Given the description of an element on the screen output the (x, y) to click on. 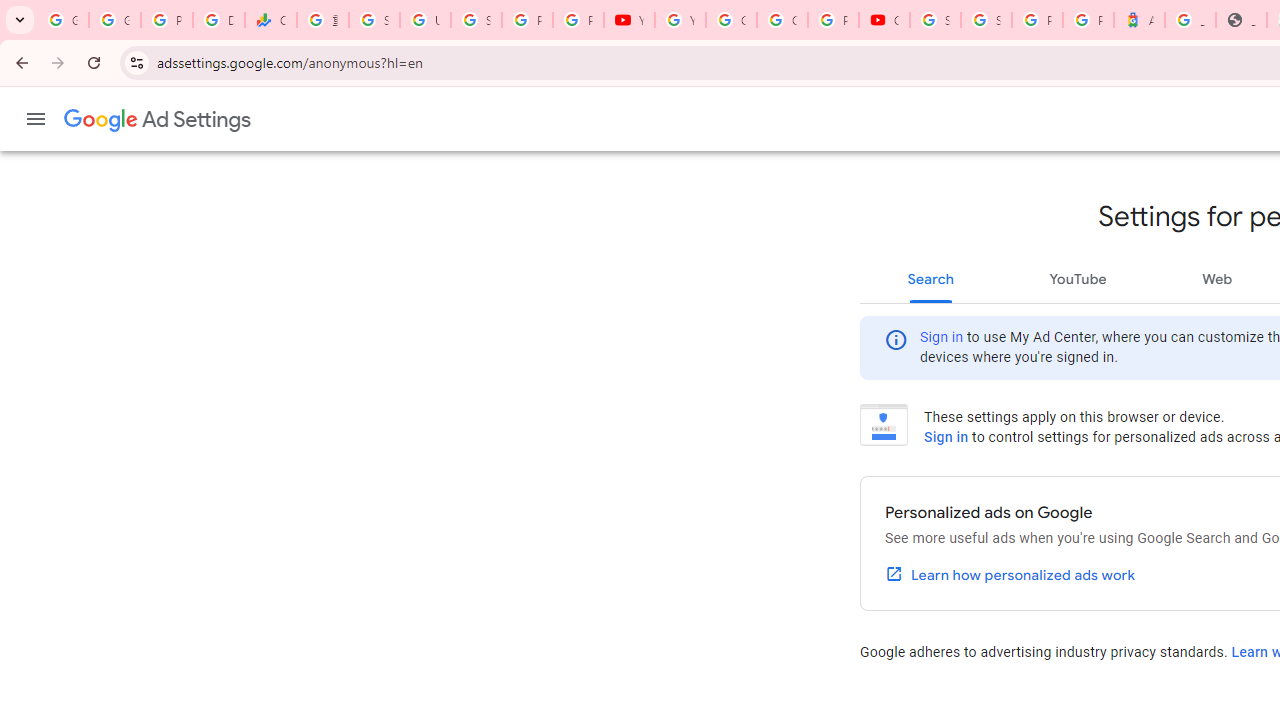
Create your Google Account (781, 20)
Main menu (35, 119)
Sign in - Google Accounts (986, 20)
Google Workspace Admin Community (63, 20)
